Given the description of an element on the screen output the (x, y) to click on. 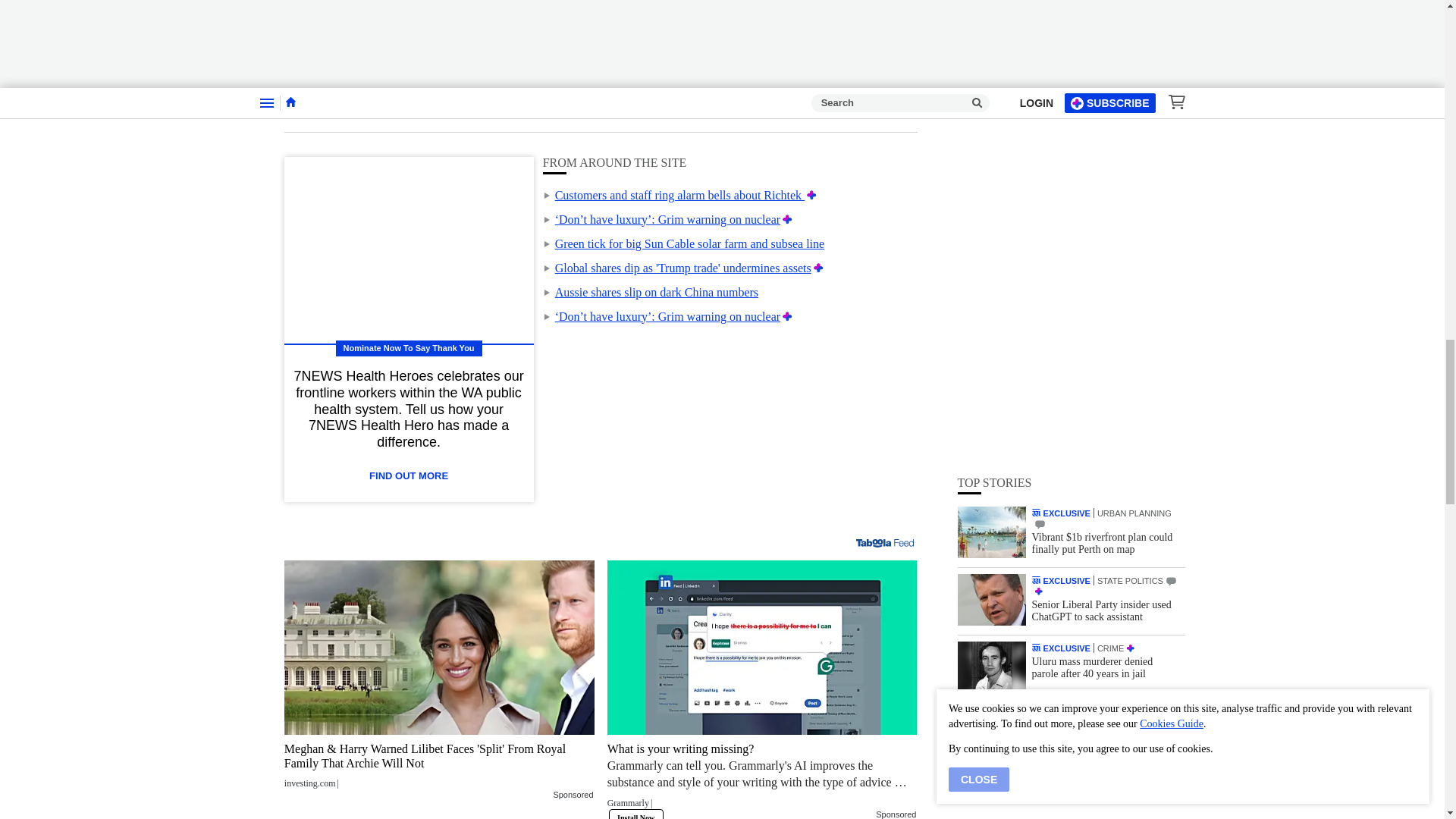
What is your writing missing? (762, 647)
Premium (811, 195)
Premium (786, 219)
Premium (818, 267)
Premium (786, 316)
What is your writing missing? (762, 780)
